Given the description of an element on the screen output the (x, y) to click on. 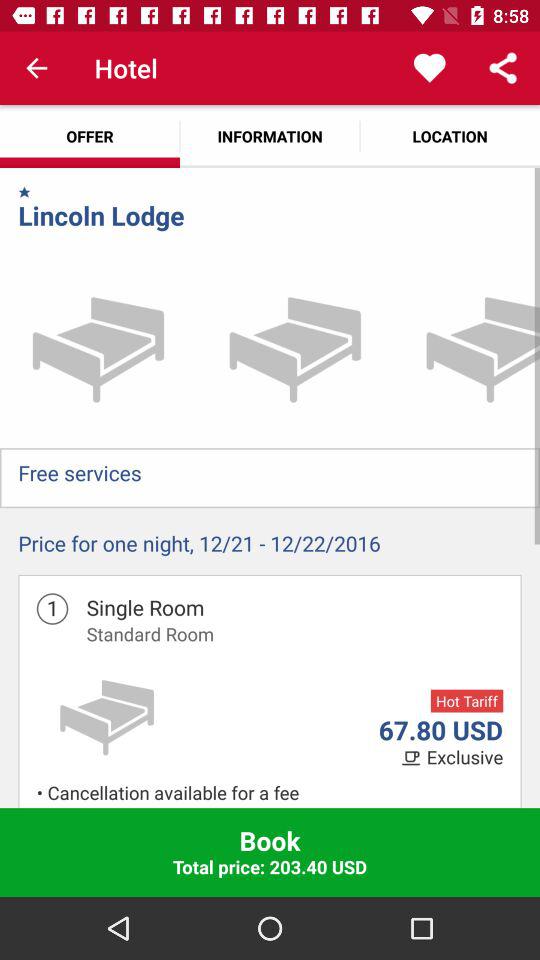
select the third image from left (467, 349)
